Given the description of an element on the screen output the (x, y) to click on. 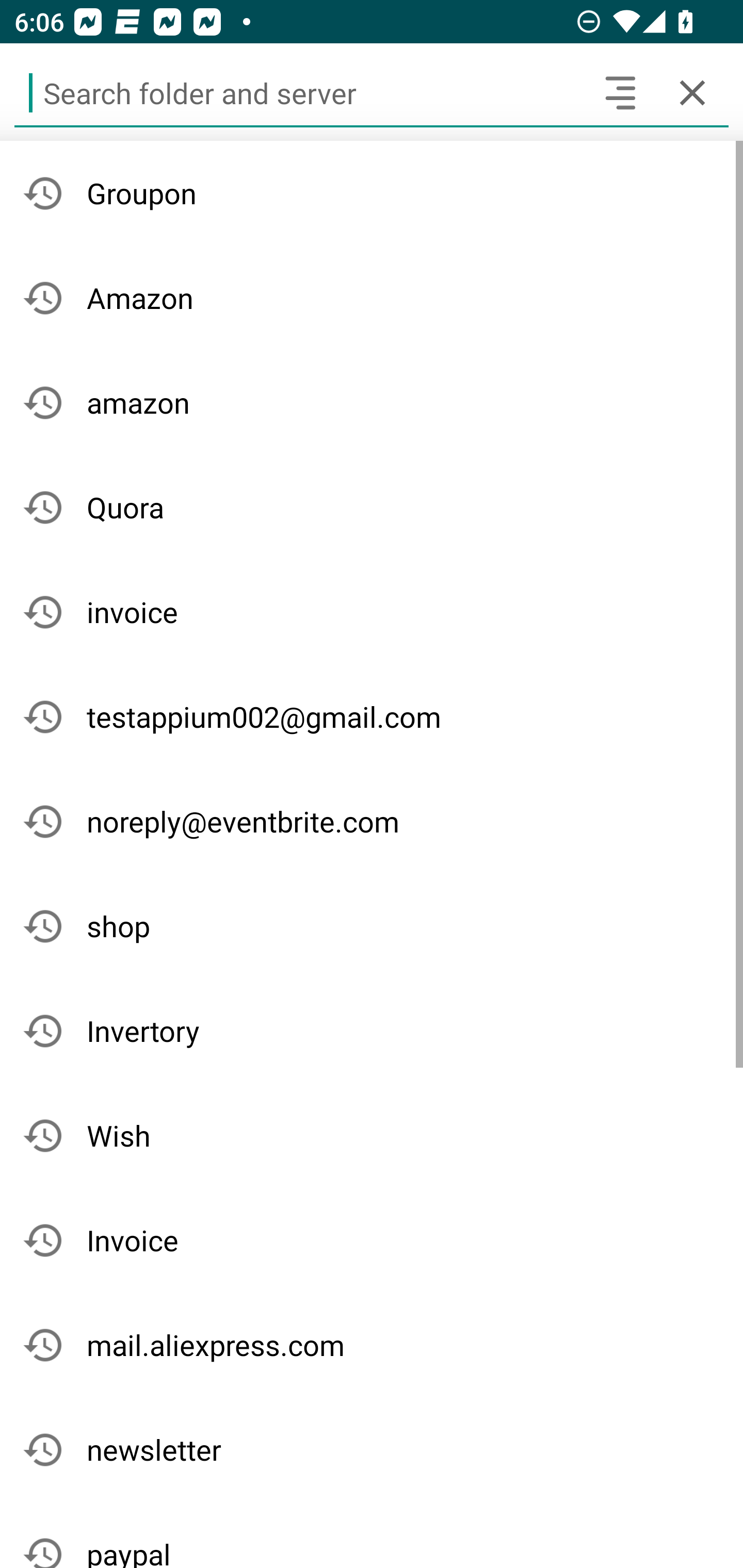
   Search folder and server (298, 92)
Search headers and text (619, 92)
Cancel (692, 92)
